Given the description of an element on the screen output the (x, y) to click on. 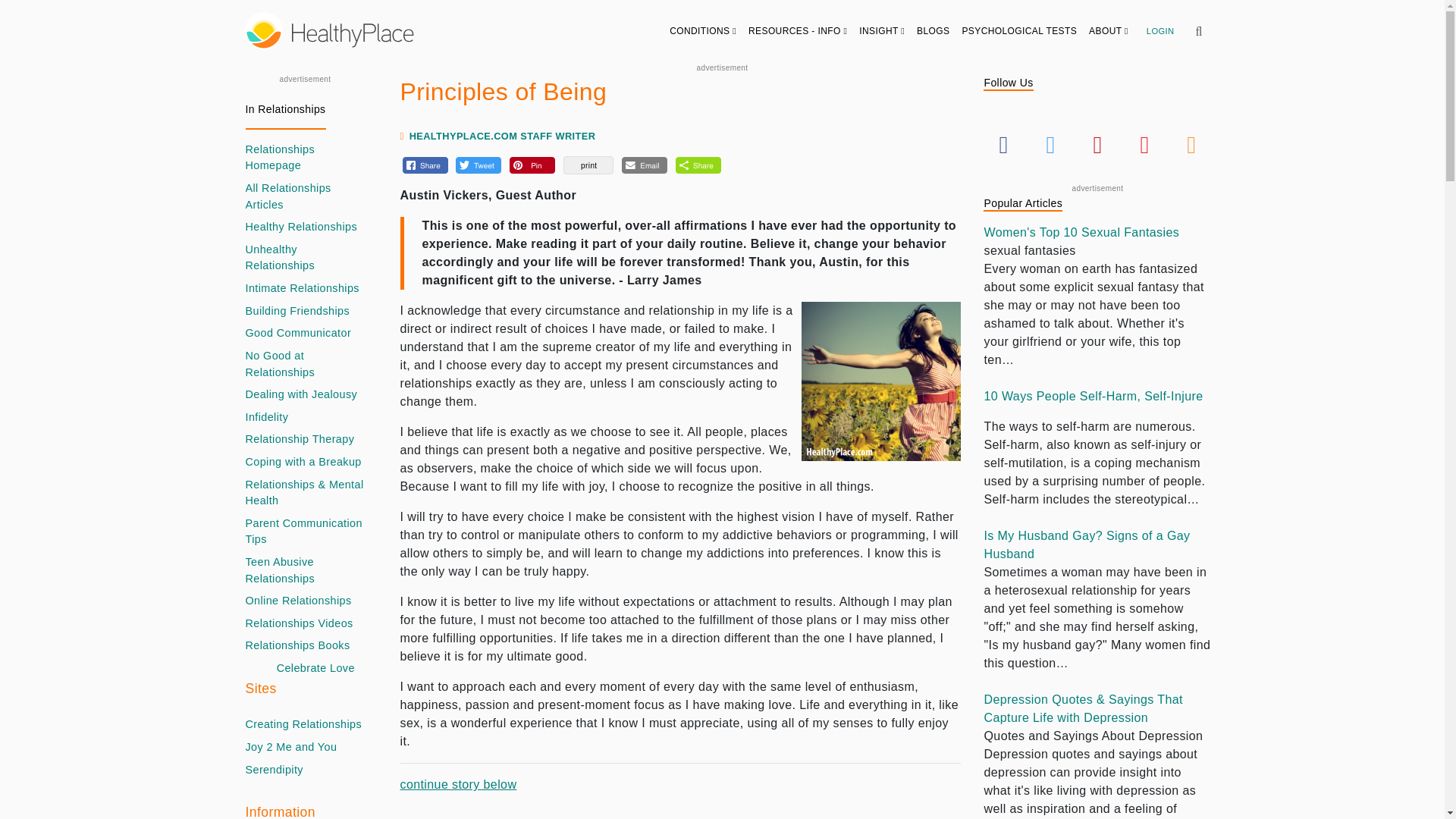
Can an Online Relationship Work? (299, 600)
Considering Why You May Be "No Good at Relationships" (305, 364)
All Relationships Articles on HealthyPlace (305, 157)
INSIGHT (882, 31)
For Teens: Abusive Relationships and What To Do About Them (305, 570)
Parenting: Communication Tips for Parents (305, 531)
What Constitutes an Unhealthy Relationship? (305, 257)
Relationships and Mental Health (305, 492)
What is a Healthy Relationship? (302, 227)
Do You Need Relationship or Marriage Therapy? (300, 439)
CONDITIONS (702, 31)
Dealing with the Feelings of Jealousy (302, 394)
Is Your Partner Cheating On You? (267, 417)
RESOURCES - INFO (797, 31)
